Given the description of an element on the screen output the (x, y) to click on. 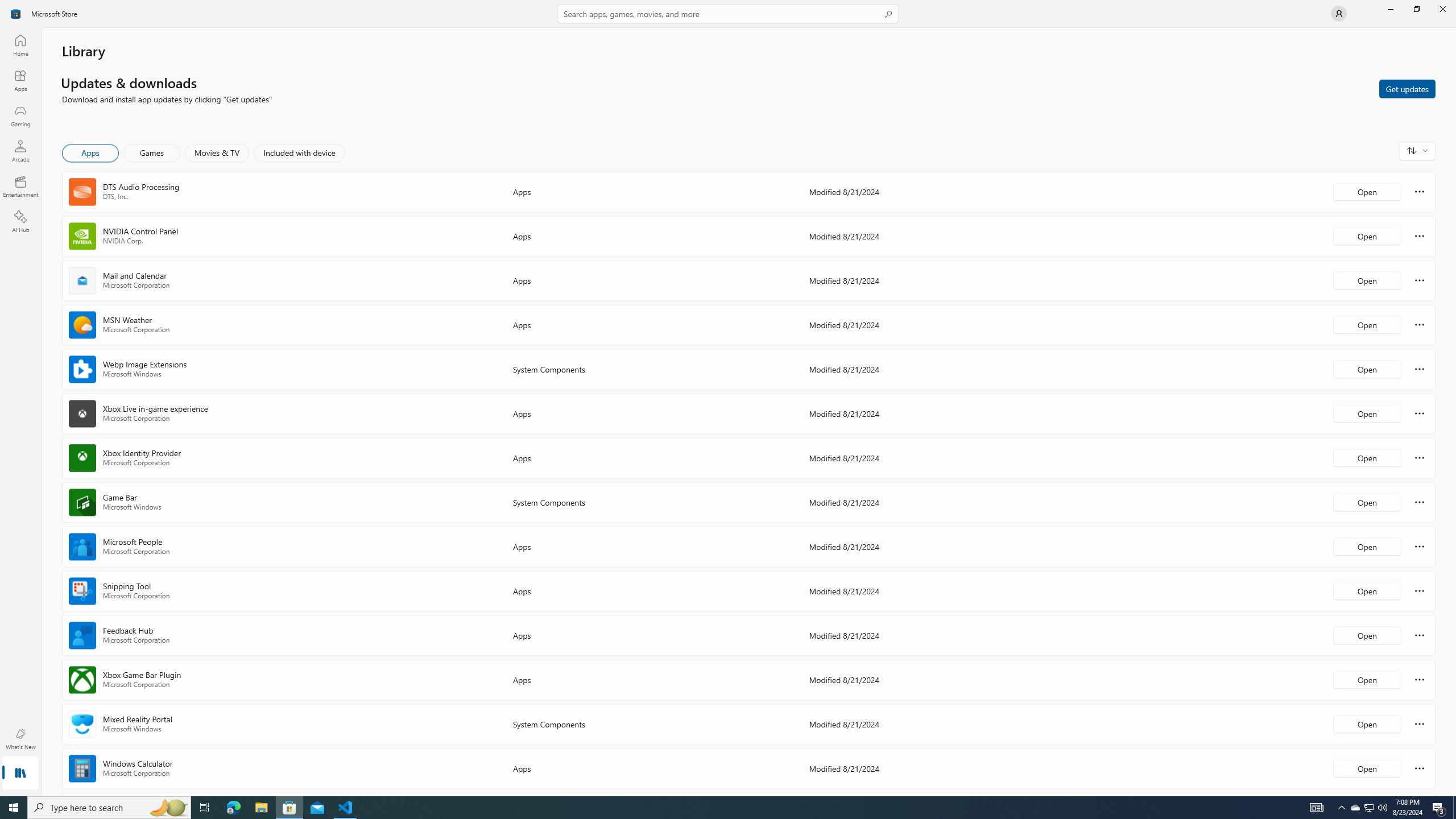
More options (1419, 768)
Open (1366, 768)
